Given the description of an element on the screen output the (x, y) to click on. 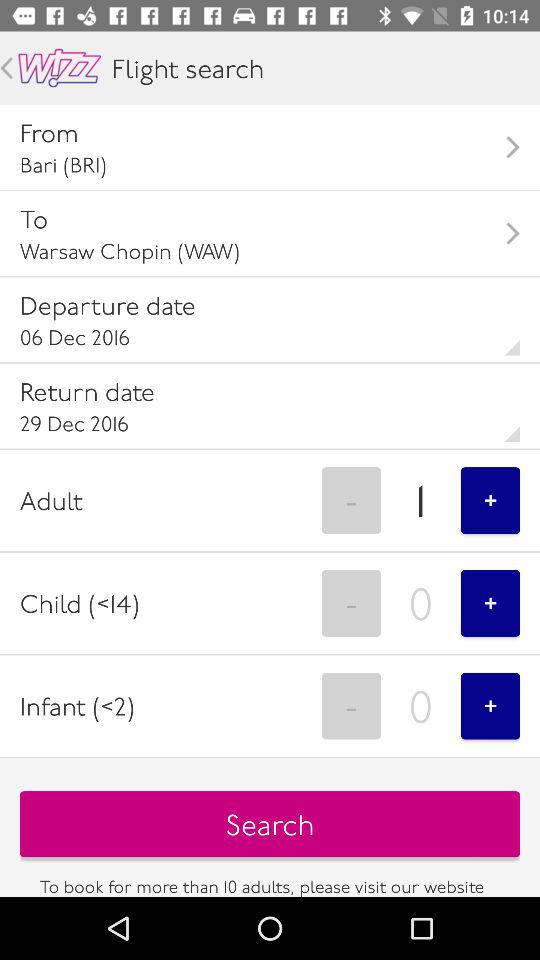
tap the icon next to the 1 item (490, 500)
